Given the description of an element on the screen output the (x, y) to click on. 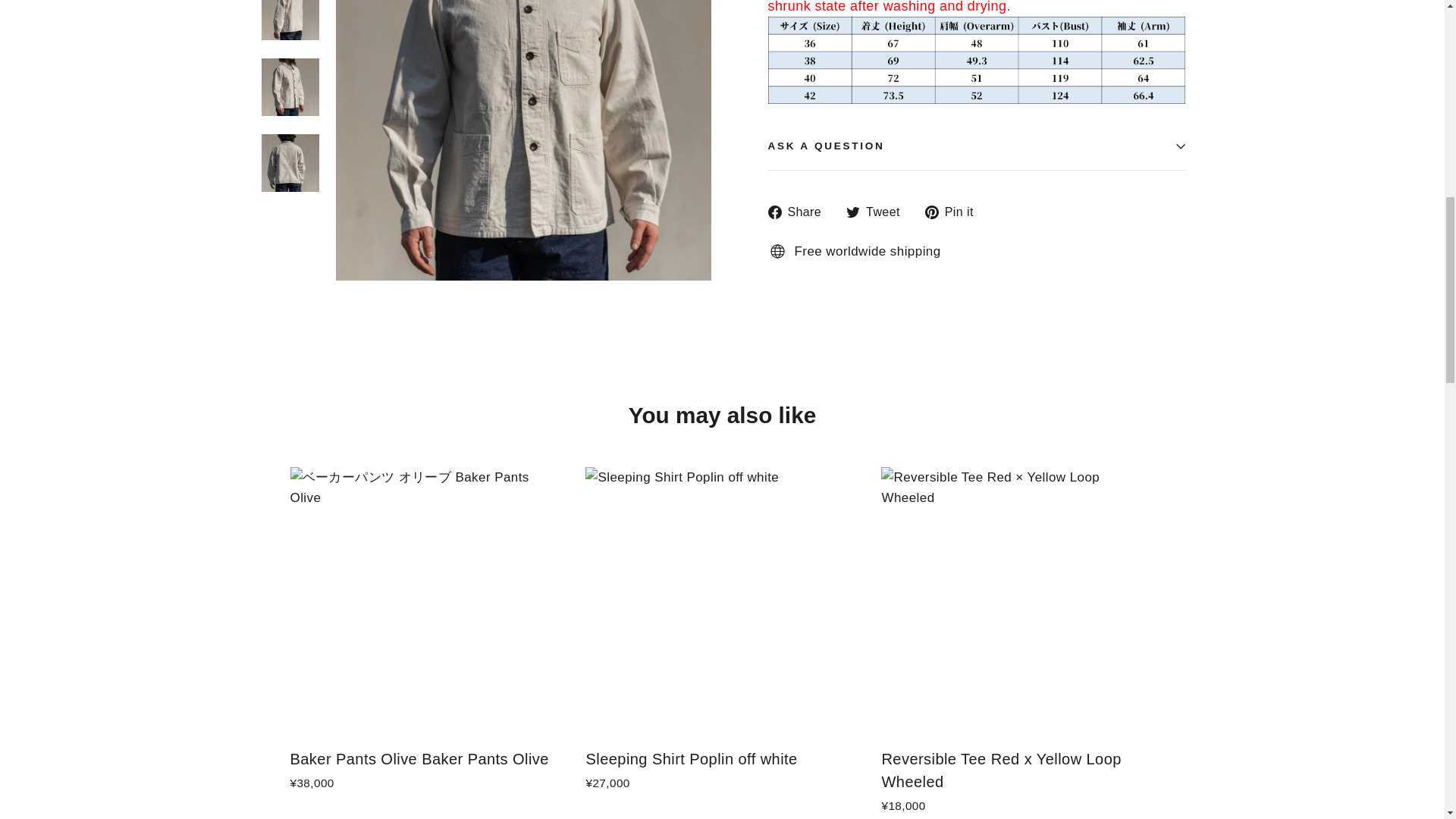
Tweet on Twitter (878, 211)
Share on Facebook (799, 211)
Pin on Pinterest (954, 211)
